Given the description of an element on the screen output the (x, y) to click on. 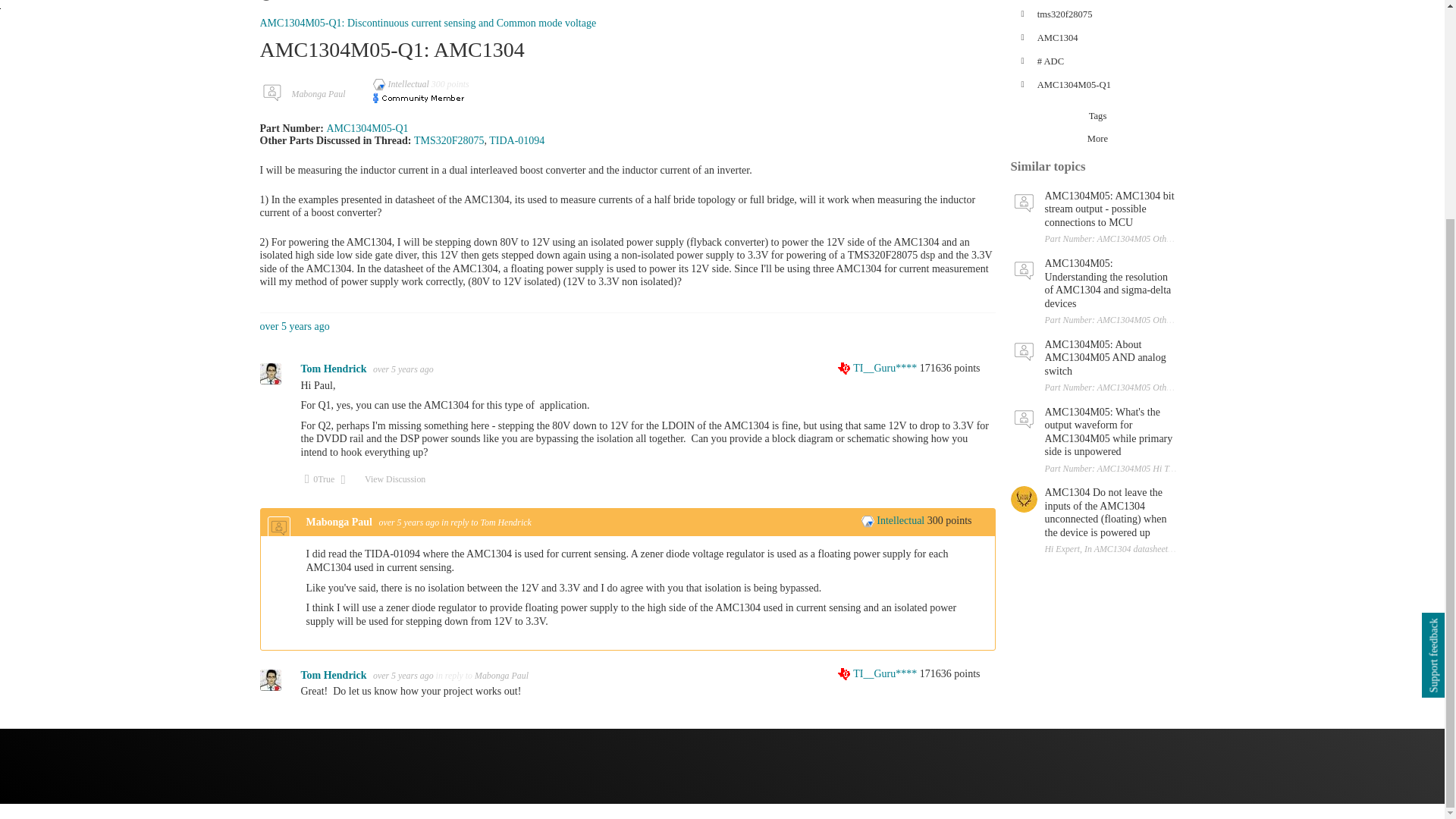
Link to Tool Folder (516, 140)
Click here for explanation of levels (879, 367)
Click here for explanation of levels (879, 673)
Link to Product Folder (448, 140)
Click here for explanation of levels (893, 520)
Click here for explanation of levels (401, 83)
Link to Product Folder (366, 128)
